Given the description of an element on the screen output the (x, y) to click on. 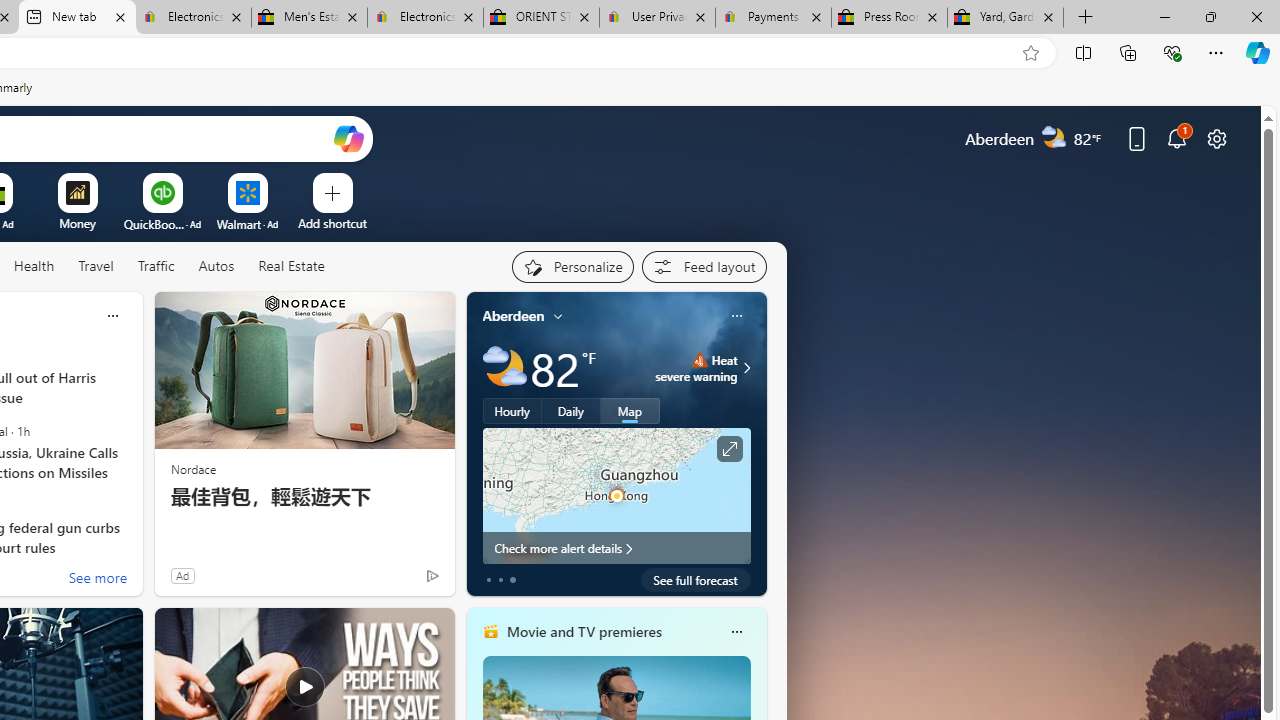
Electronics, Cars, Fashion, Collectibles & More | eBay (424, 17)
Real Estate (291, 265)
tab-0 (488, 579)
More Options (279, 179)
Ad Choice (432, 575)
Autos (215, 265)
Feed settings (703, 266)
tab-1 (500, 579)
Traffic (155, 265)
Daily (571, 411)
